Given the description of an element on the screen output the (x, y) to click on. 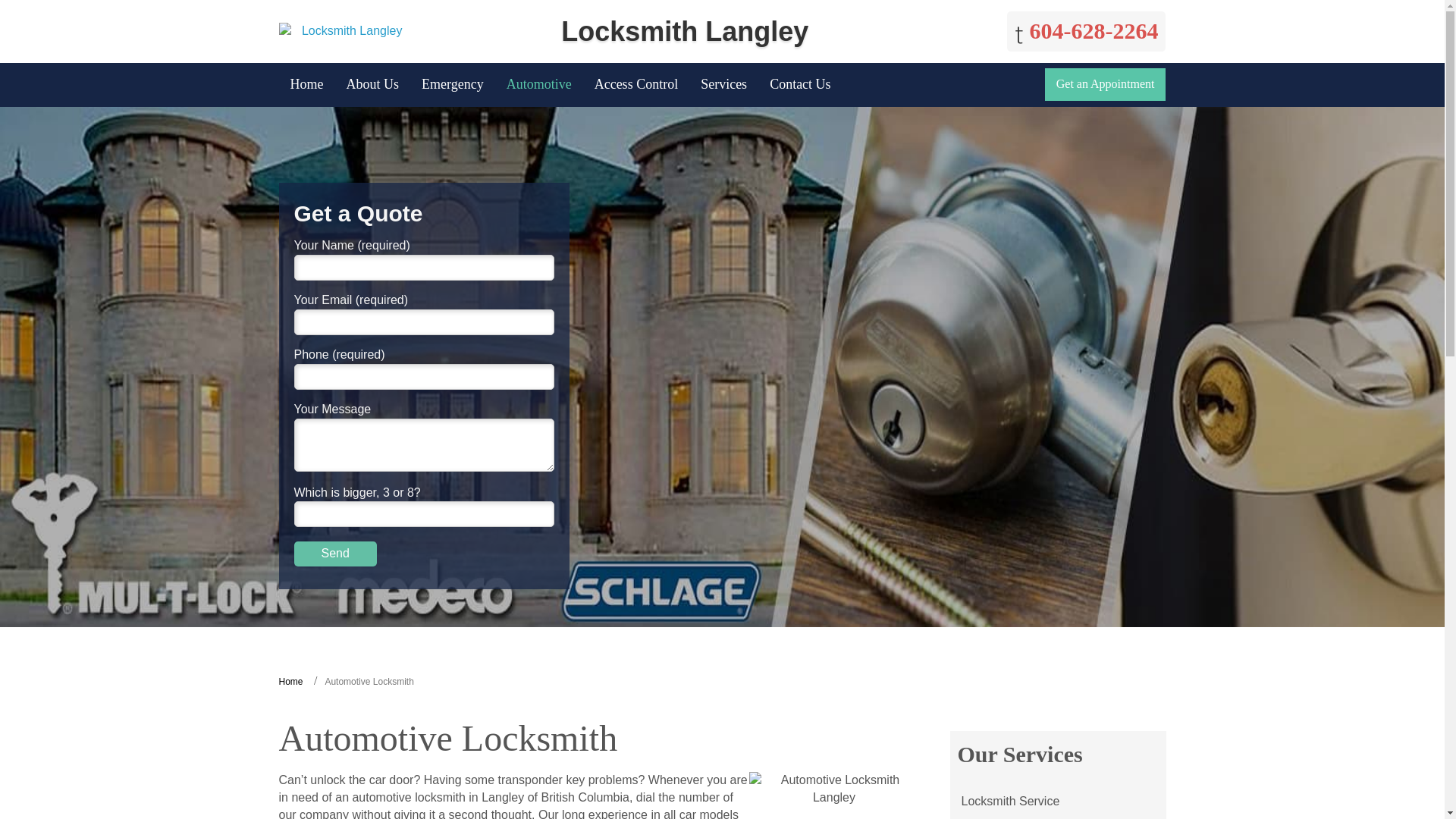
Locksmith Service (1009, 801)
Send (335, 553)
Home (306, 84)
Emergency (452, 84)
Send (335, 553)
About Us (372, 84)
Home (290, 681)
Automotive (539, 84)
Access Control (635, 84)
604-628-2264 (1086, 31)
Contact Us (800, 84)
Get an Appointment (1105, 83)
Services (723, 84)
